Given the description of an element on the screen output the (x, y) to click on. 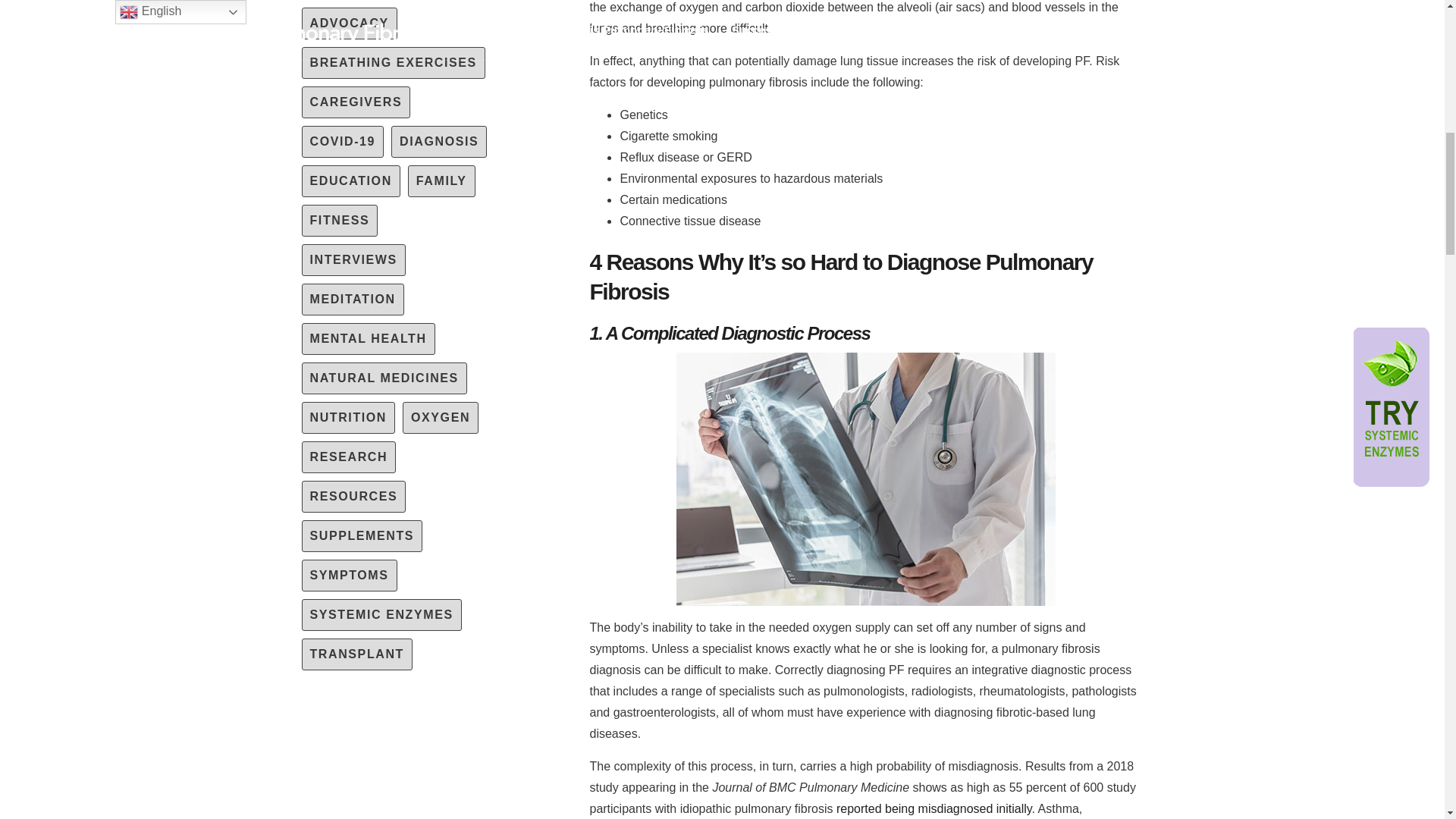
BREATHING EXERCISES (392, 62)
FITNESS (339, 220)
FAMILY (441, 181)
INTERVIEWS (353, 260)
COVID-19 (342, 142)
DIAGNOSIS (438, 142)
ADVOCACY (349, 23)
CAREGIVERS (355, 101)
EDUCATION (350, 181)
